Given the description of an element on the screen output the (x, y) to click on. 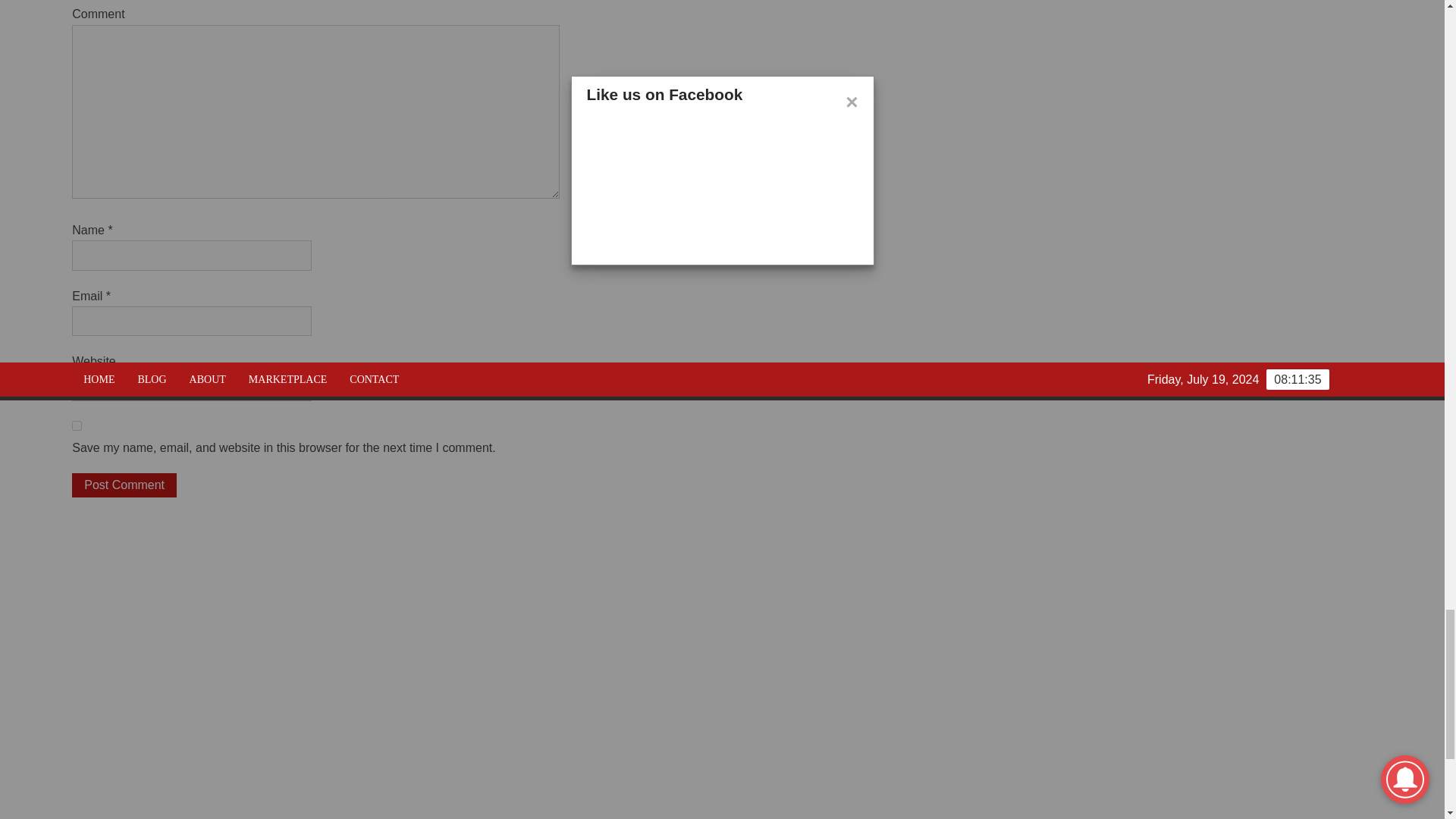
Post Comment (123, 485)
yes (76, 425)
